Given the description of an element on the screen output the (x, y) to click on. 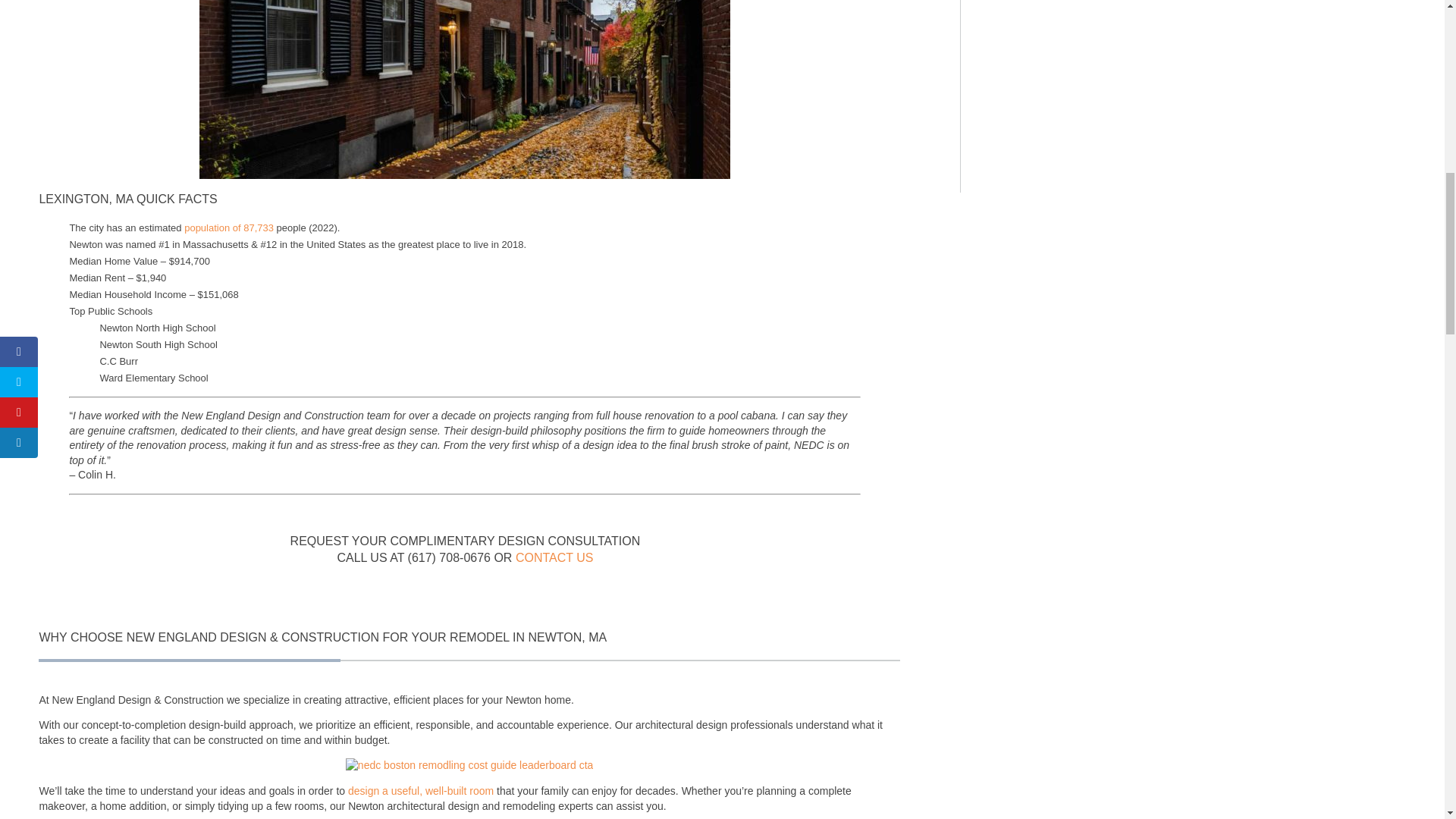
CONTACT US (554, 557)
design a useful, well-built room (420, 790)
population of 87,733 (228, 227)
